Given the description of an element on the screen output the (x, y) to click on. 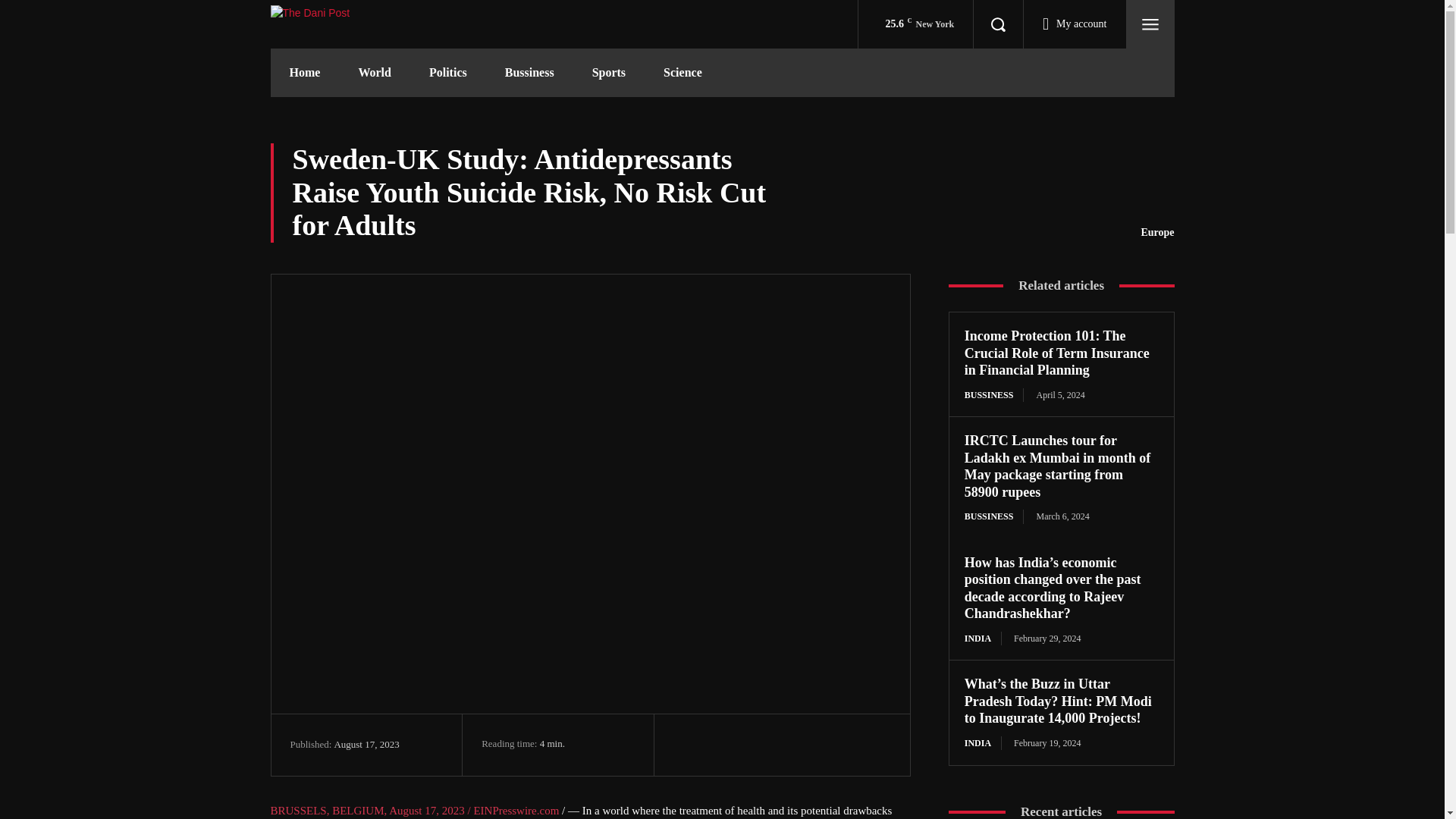
The Dani Post (326, 23)
Home (304, 72)
Politics (448, 72)
World (374, 72)
